Given the description of an element on the screen output the (x, y) to click on. 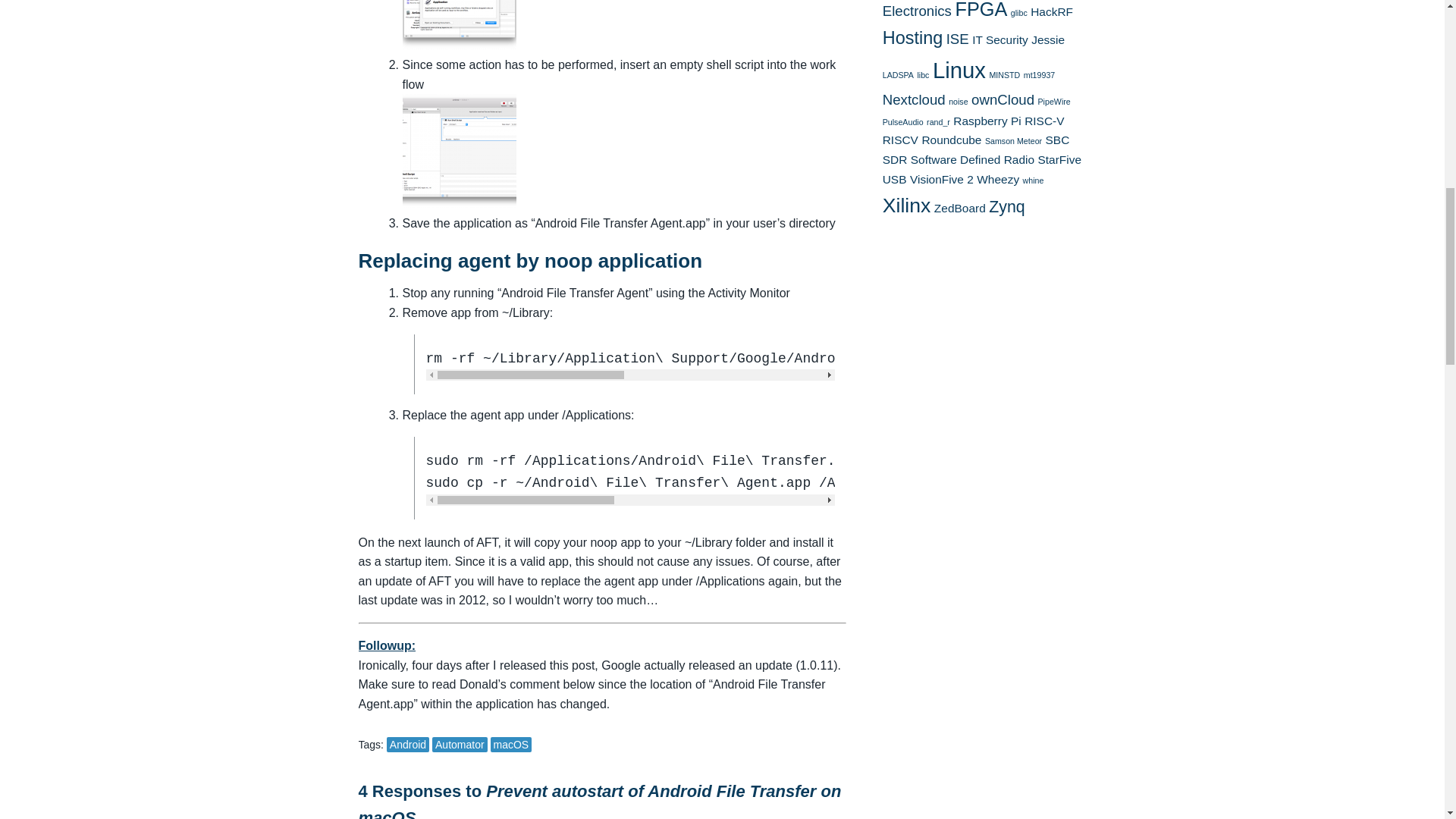
Android (408, 744)
macOS (510, 744)
Automator (459, 744)
Followup: (386, 645)
